Given the description of an element on the screen output the (x, y) to click on. 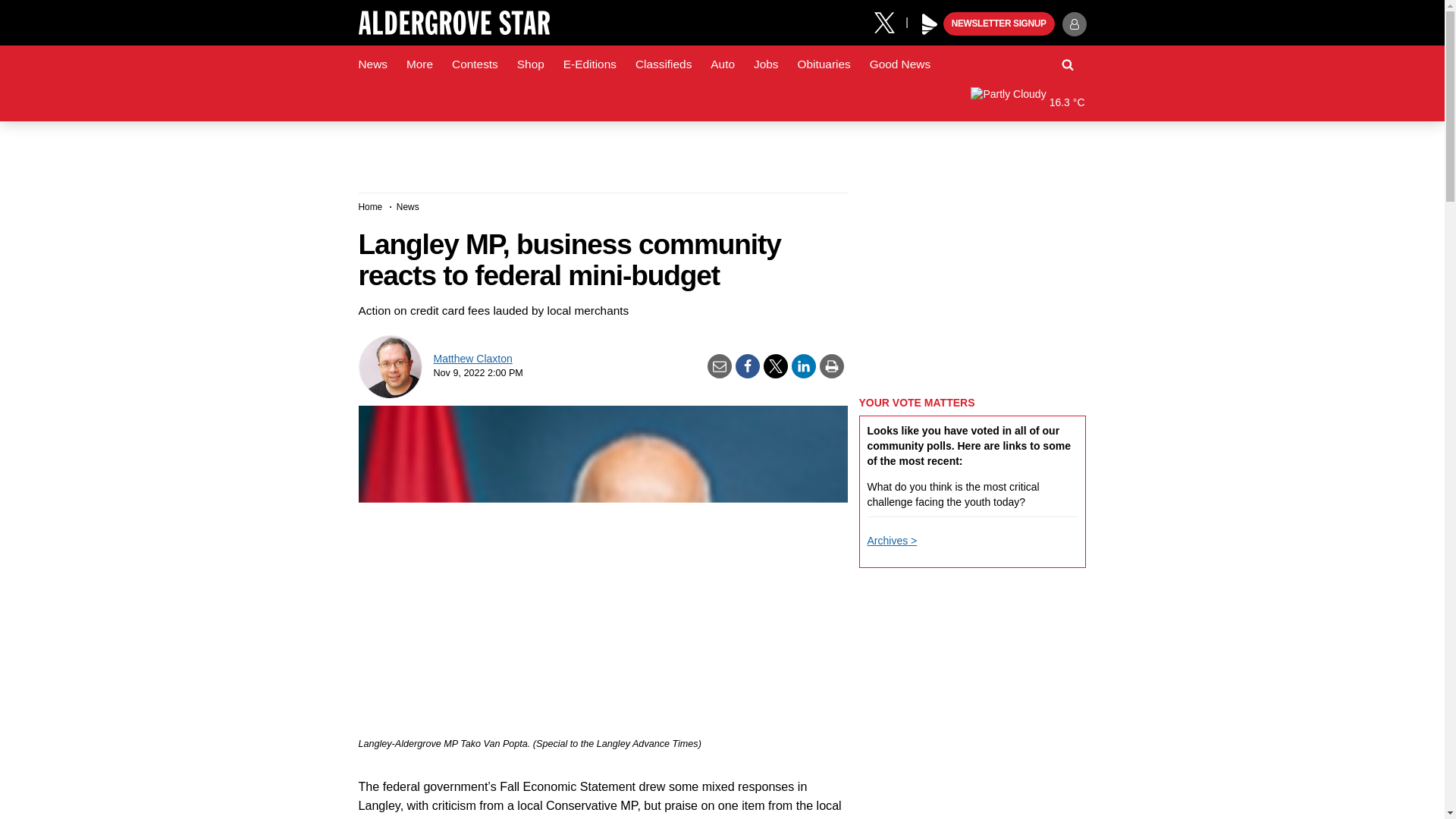
X (889, 21)
News (372, 64)
Black Press Media (929, 24)
NEWSLETTER SIGNUP (998, 24)
Play (929, 24)
